Given the description of an element on the screen output the (x, y) to click on. 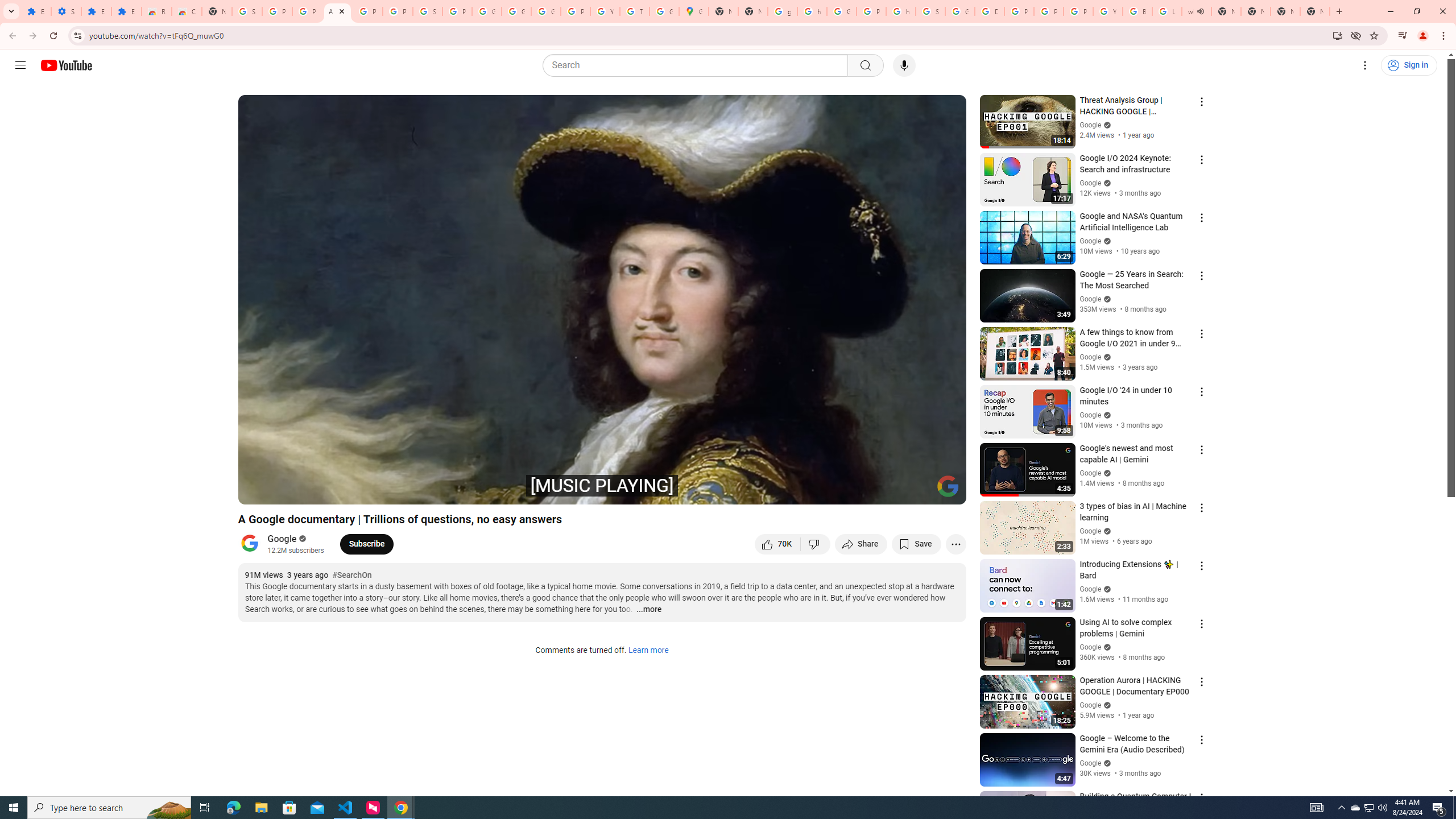
Channel watermark (947, 486)
https://scholar.google.com/ (811, 11)
Chrome Web Store - Themes (185, 11)
Action menu (1200, 798)
Verified (1106, 762)
Next (SHIFT+n) (284, 490)
Full screen (f) (945, 490)
Pause (k) (257, 490)
Dislike this video (815, 543)
